Given the description of an element on the screen output the (x, y) to click on. 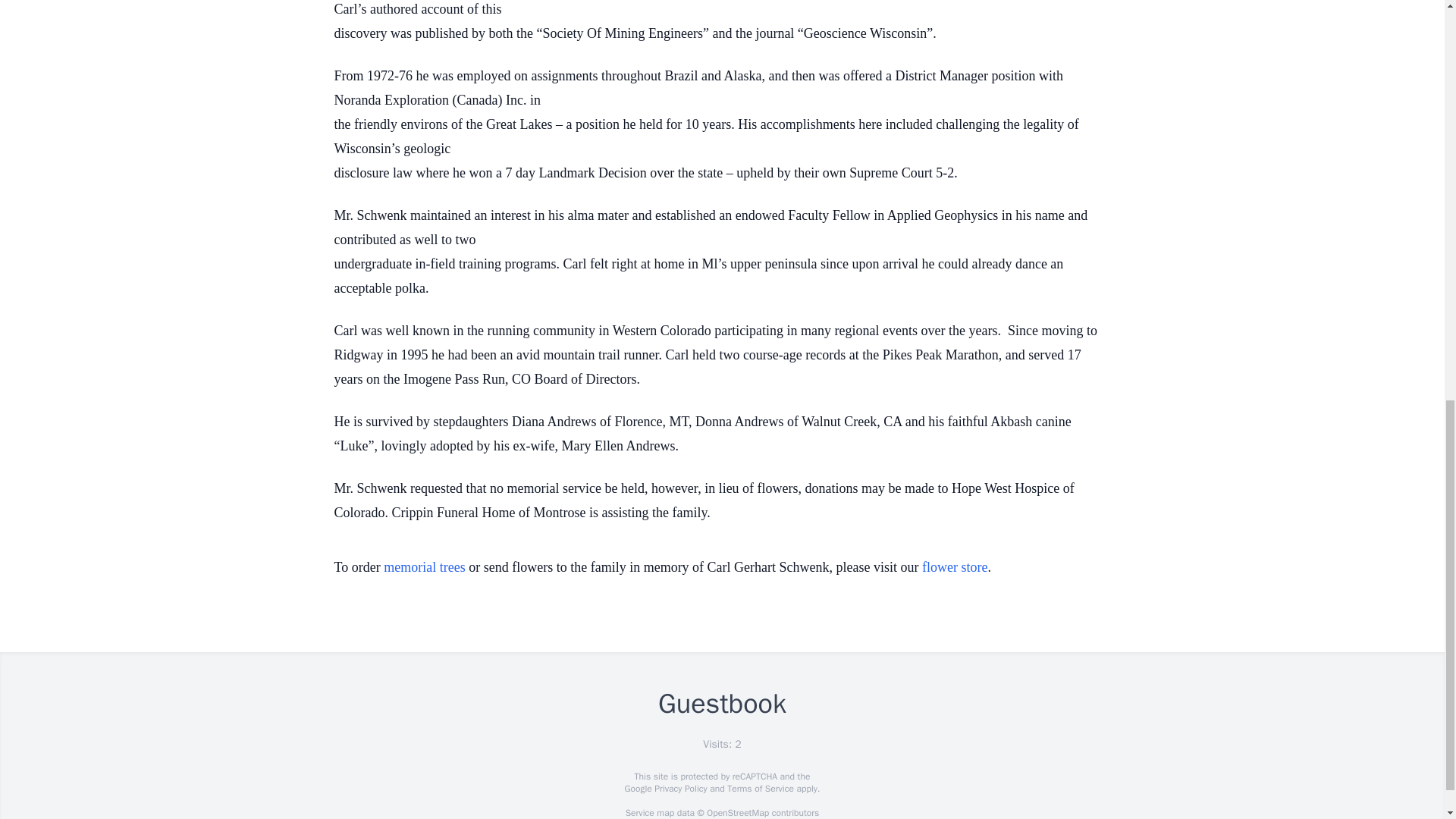
OpenStreetMap (737, 812)
Privacy Policy (679, 788)
Terms of Service (759, 788)
memorial trees (424, 566)
flower store (954, 566)
